Given the description of an element on the screen output the (x, y) to click on. 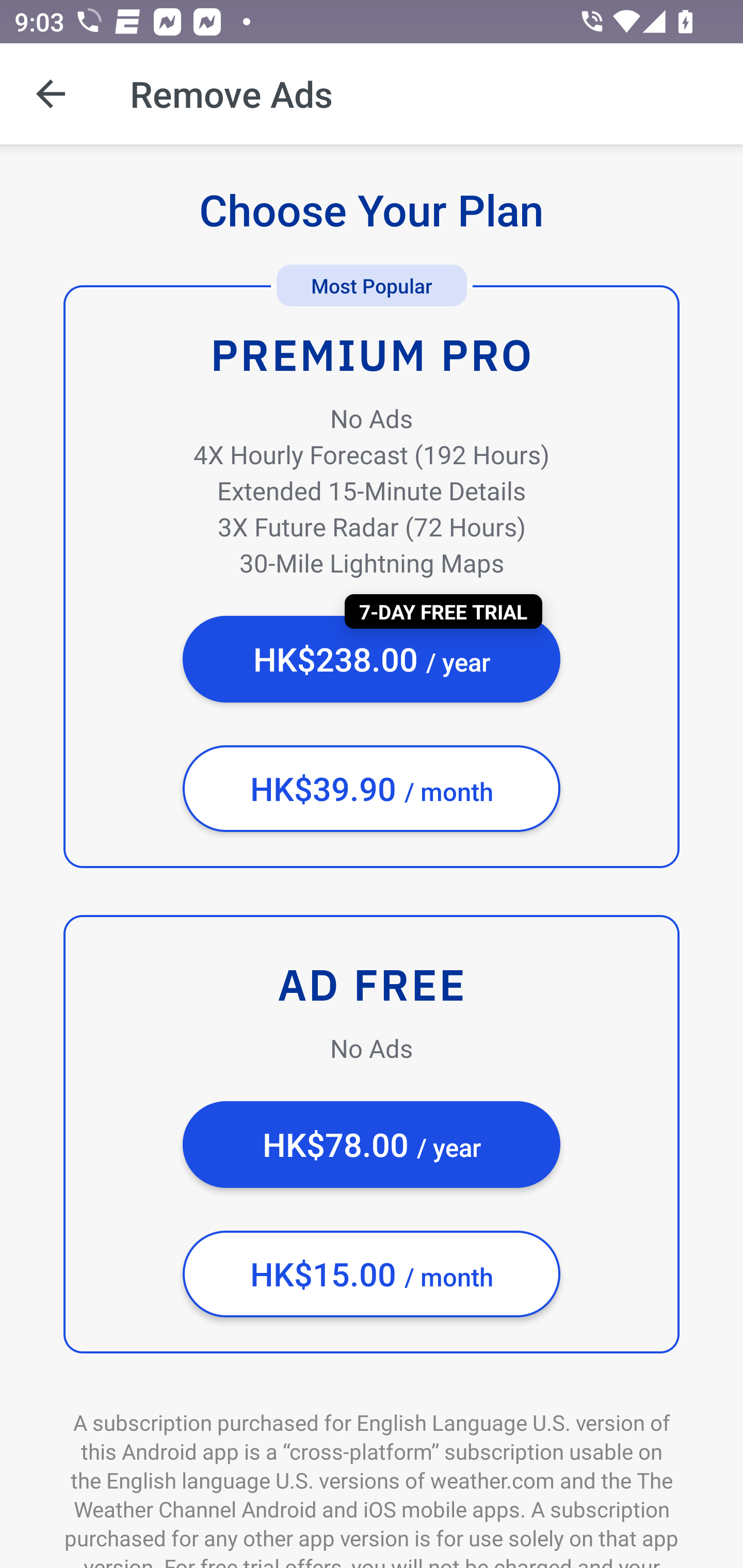
Navigate up (50, 93)
HK$238.00 / year (371, 659)
HK$39.90 / month (371, 788)
HK$78.00 / year (371, 1144)
HK$15.00 / month (371, 1273)
